Given the description of an element on the screen output the (x, y) to click on. 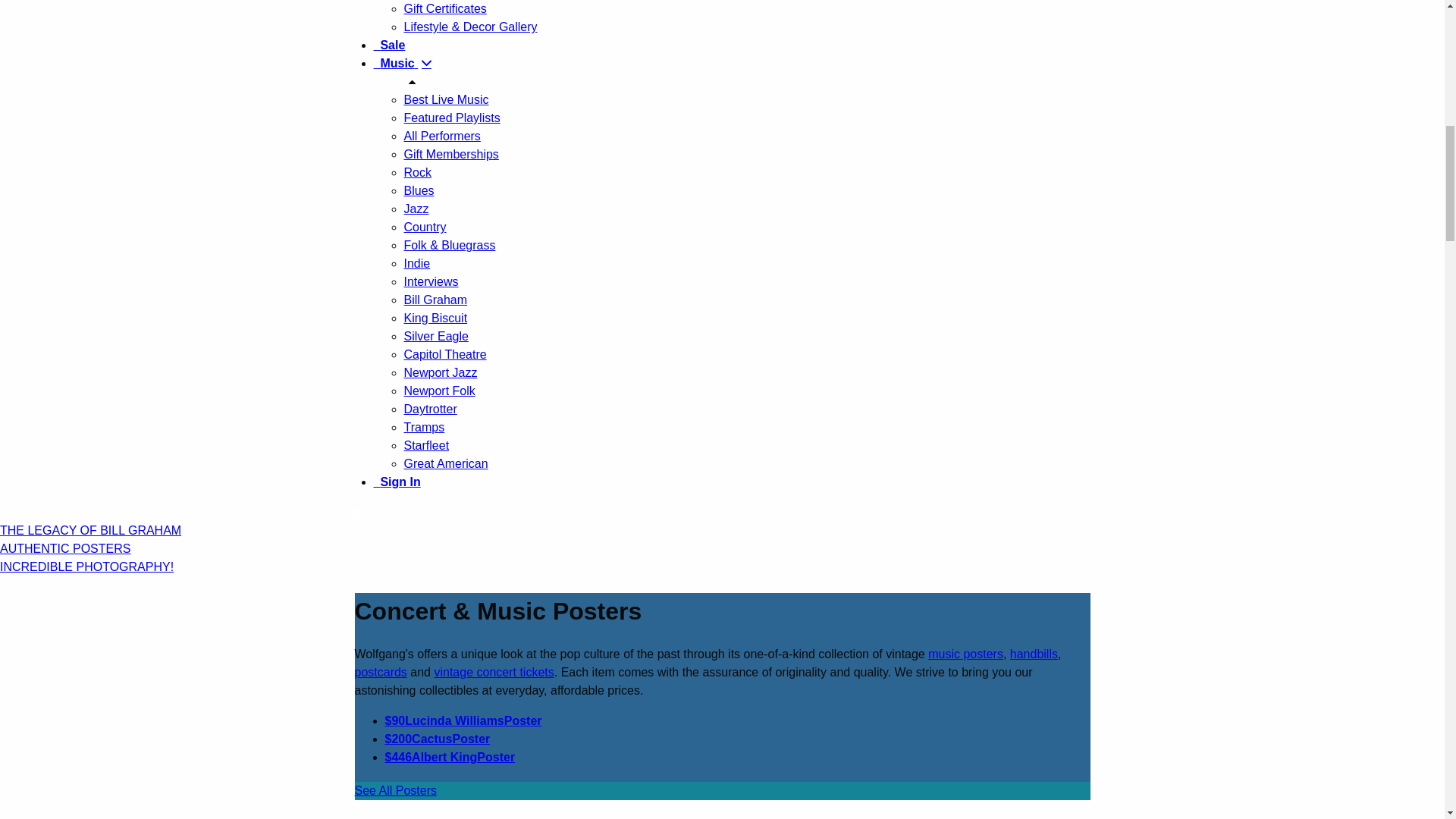
Jazz (415, 208)
Gift Memberships (450, 154)
Featured Playlists (451, 117)
  Sale (388, 44)
All Performers (441, 135)
  Music (394, 62)
Blues (418, 190)
Gift Certificates (444, 8)
Best Live Music (445, 99)
Rock (416, 172)
